Given the description of an element on the screen output the (x, y) to click on. 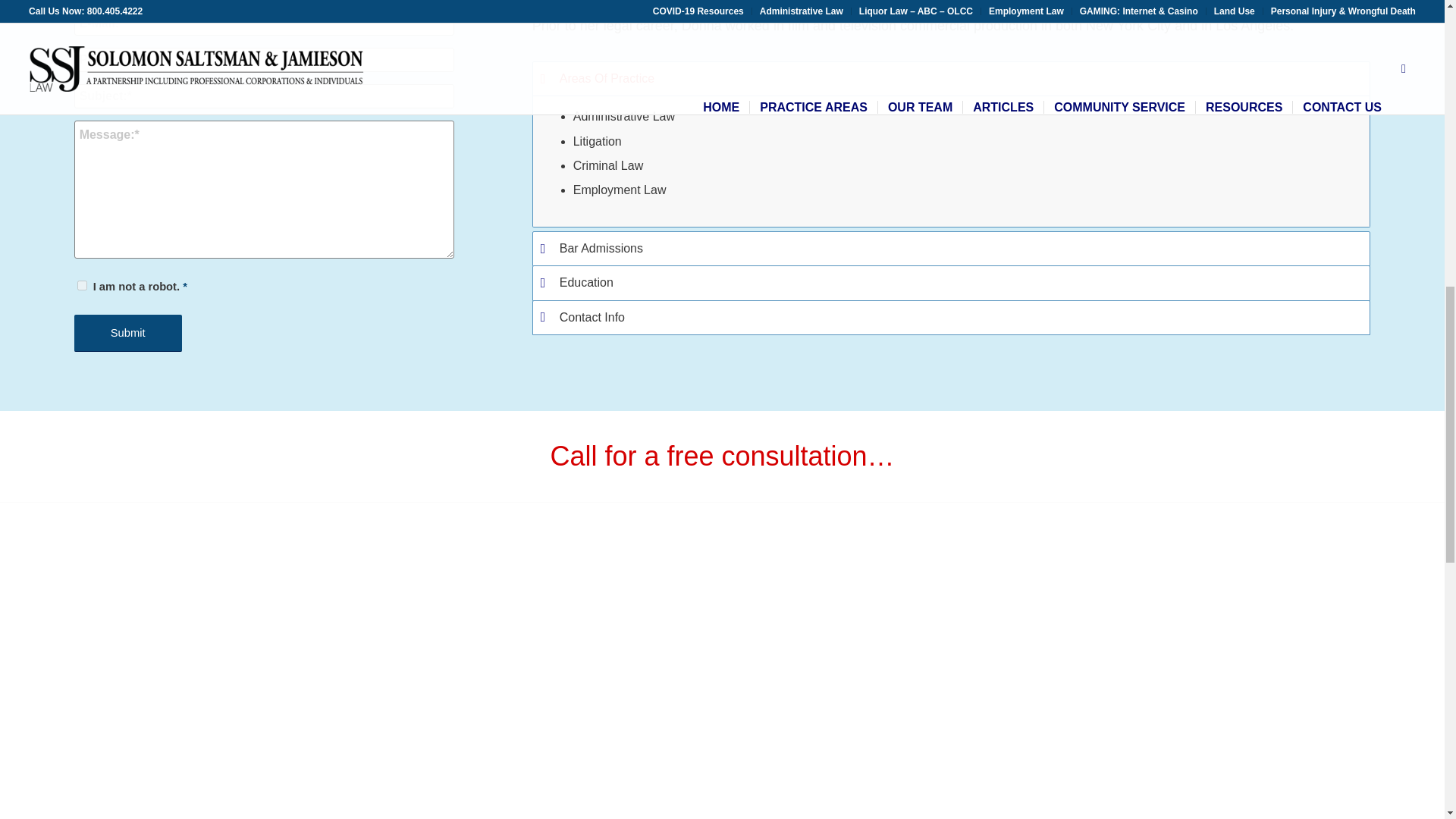
Submit (128, 333)
true (82, 285)
Submit (128, 333)
